Given the description of an element on the screen output the (x, y) to click on. 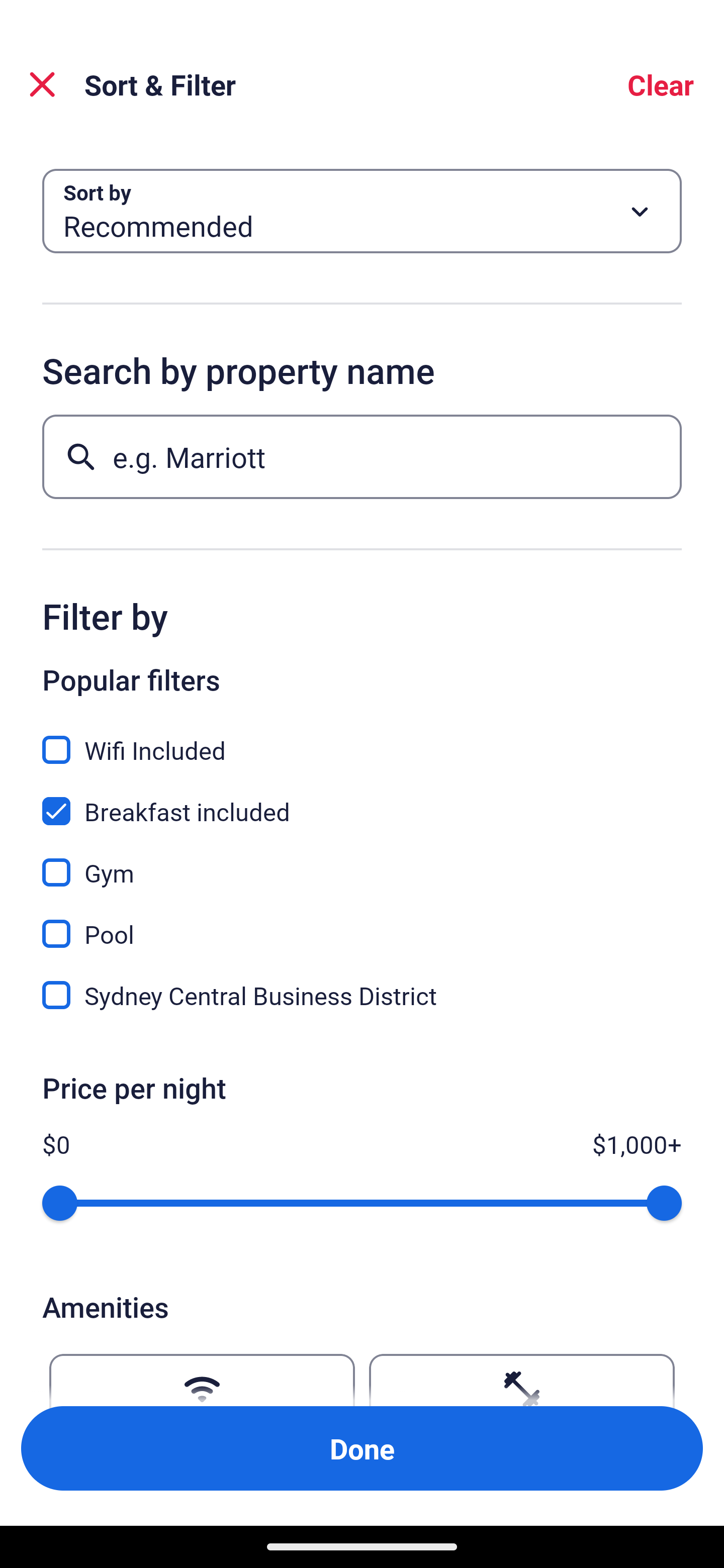
Close Sort and Filter (42, 84)
Clear (660, 84)
Sort by Button Recommended (361, 211)
e.g. Marriott Button (361, 455)
Wifi Included, Wifi Included (361, 738)
Breakfast included, Breakfast included (361, 800)
Gym, Gym (361, 861)
Pool, Pool (361, 922)
Apply and close Sort and Filter Done (361, 1448)
